Given the description of an element on the screen output the (x, y) to click on. 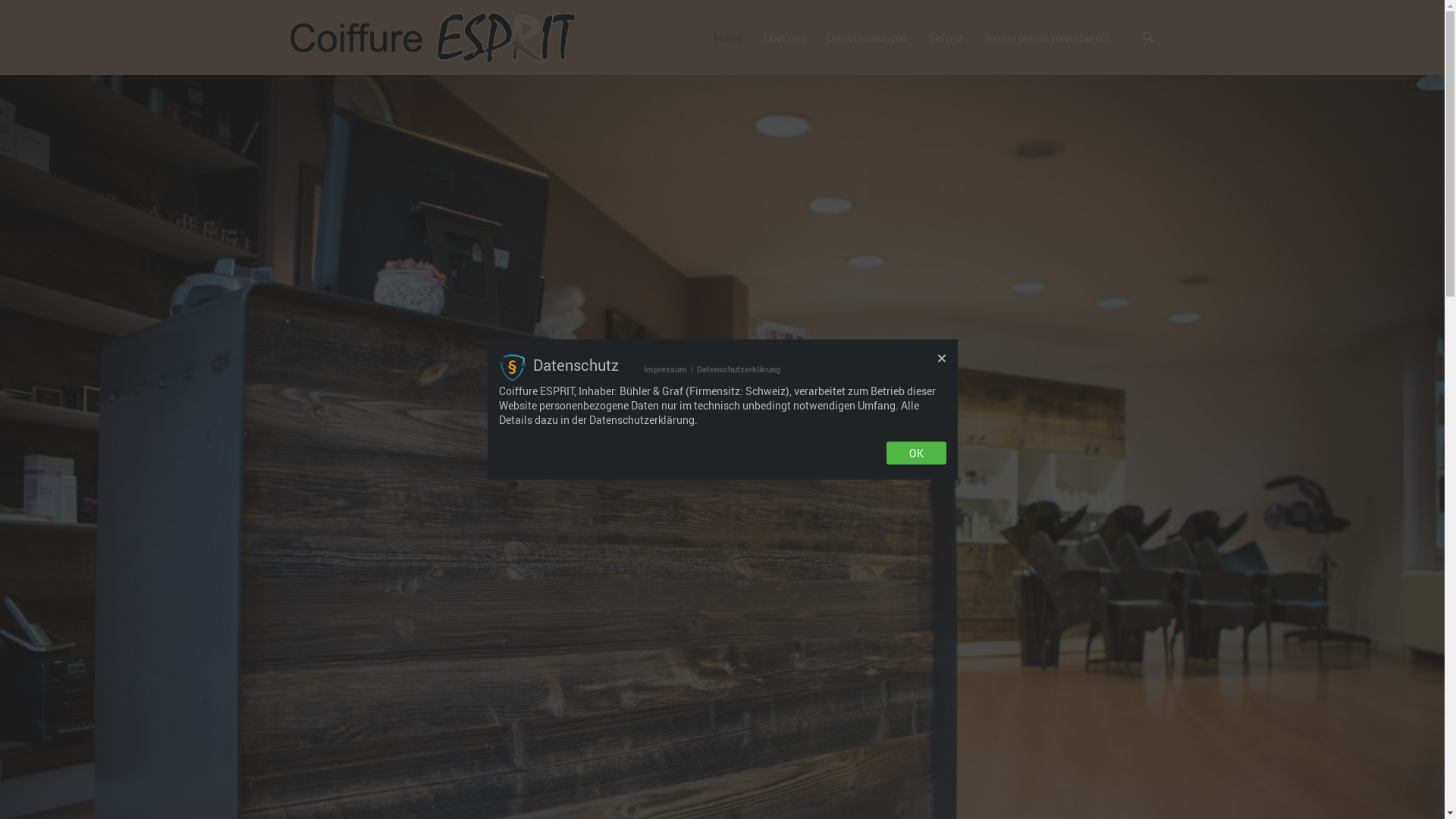
Coiffure ESPRIT Thun Element type: hover (431, 36)
Impressum Element type: text (665, 368)
Suche Element type: text (1148, 37)
Galerie Element type: text (945, 37)
Dienstleistungen Element type: text (866, 37)
OK Element type: text (915, 452)
Termin online vereinbaren! Element type: text (1045, 37)
Home Element type: text (728, 37)
